Given the description of an element on the screen output the (x, y) to click on. 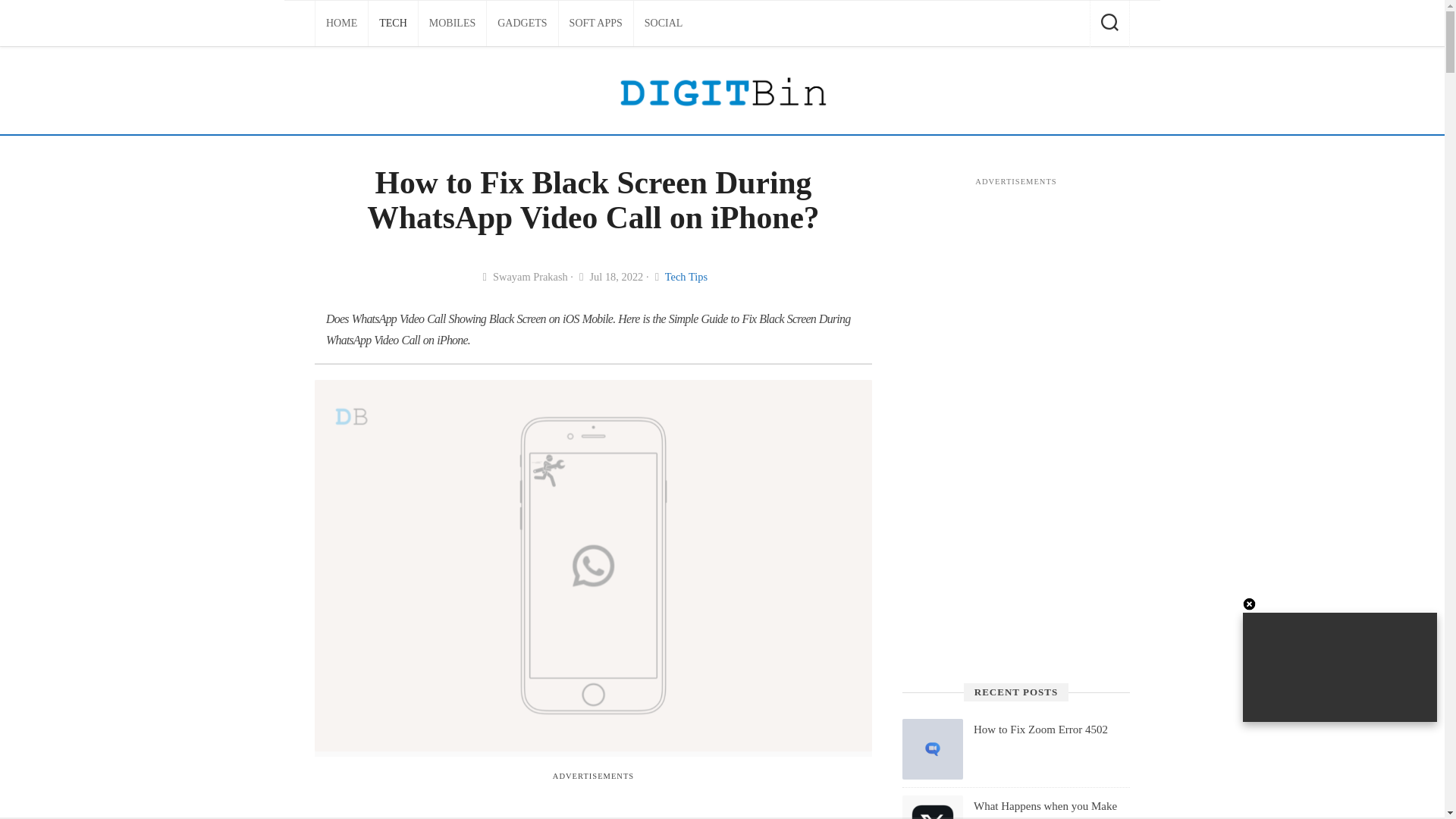
Tech Tips (686, 276)
SOCIAL (663, 23)
HOME (341, 23)
TECH (392, 23)
MOBILES (452, 23)
GADGETS (522, 23)
SOFT APPS (596, 23)
Advertisement (592, 803)
